Given the description of an element on the screen output the (x, y) to click on. 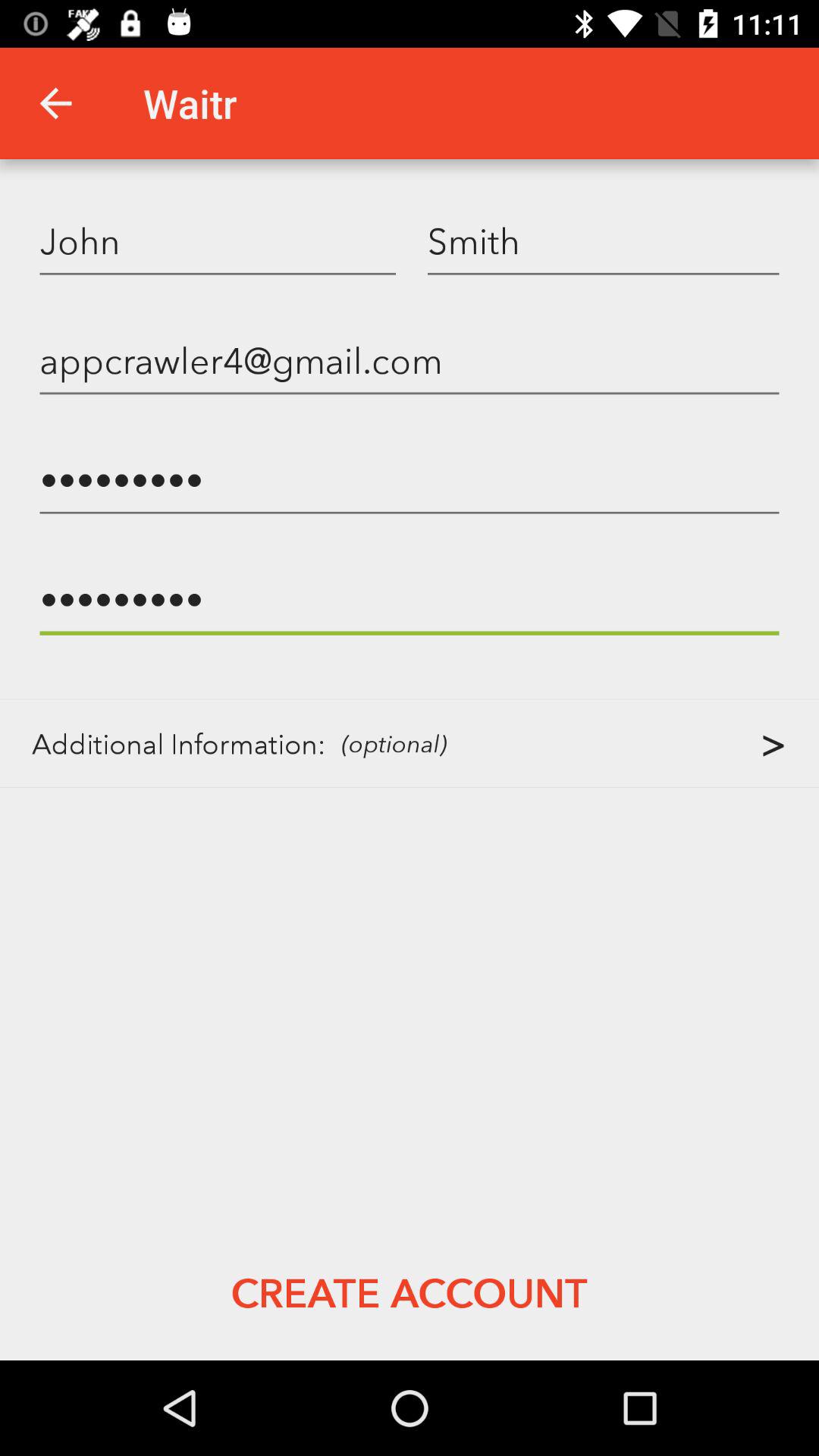
tap the item above john (55, 103)
